Given the description of an element on the screen output the (x, y) to click on. 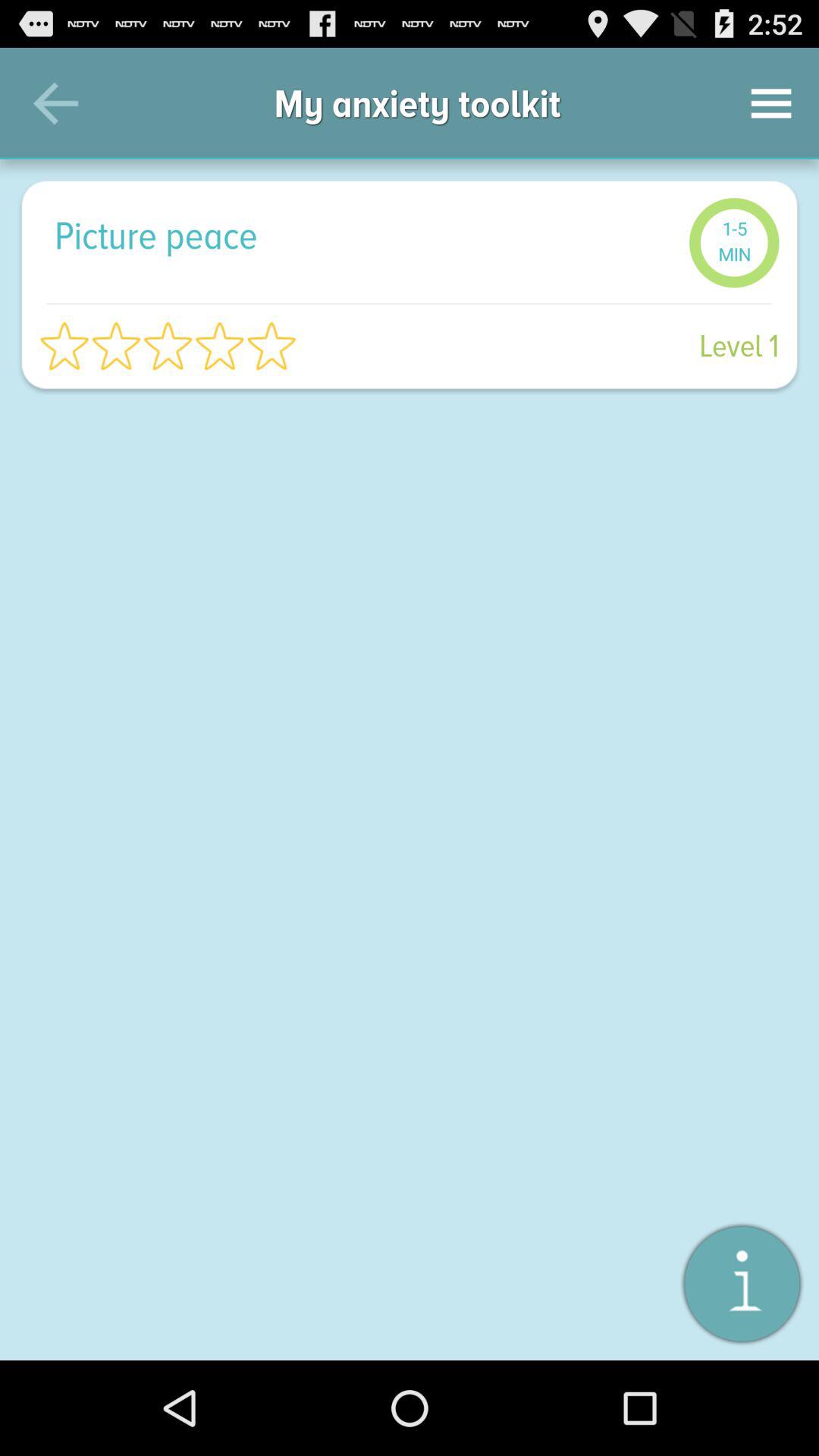
choose the icon to the right of the picture peace item (734, 242)
